Given the description of an element on the screen output the (x, y) to click on. 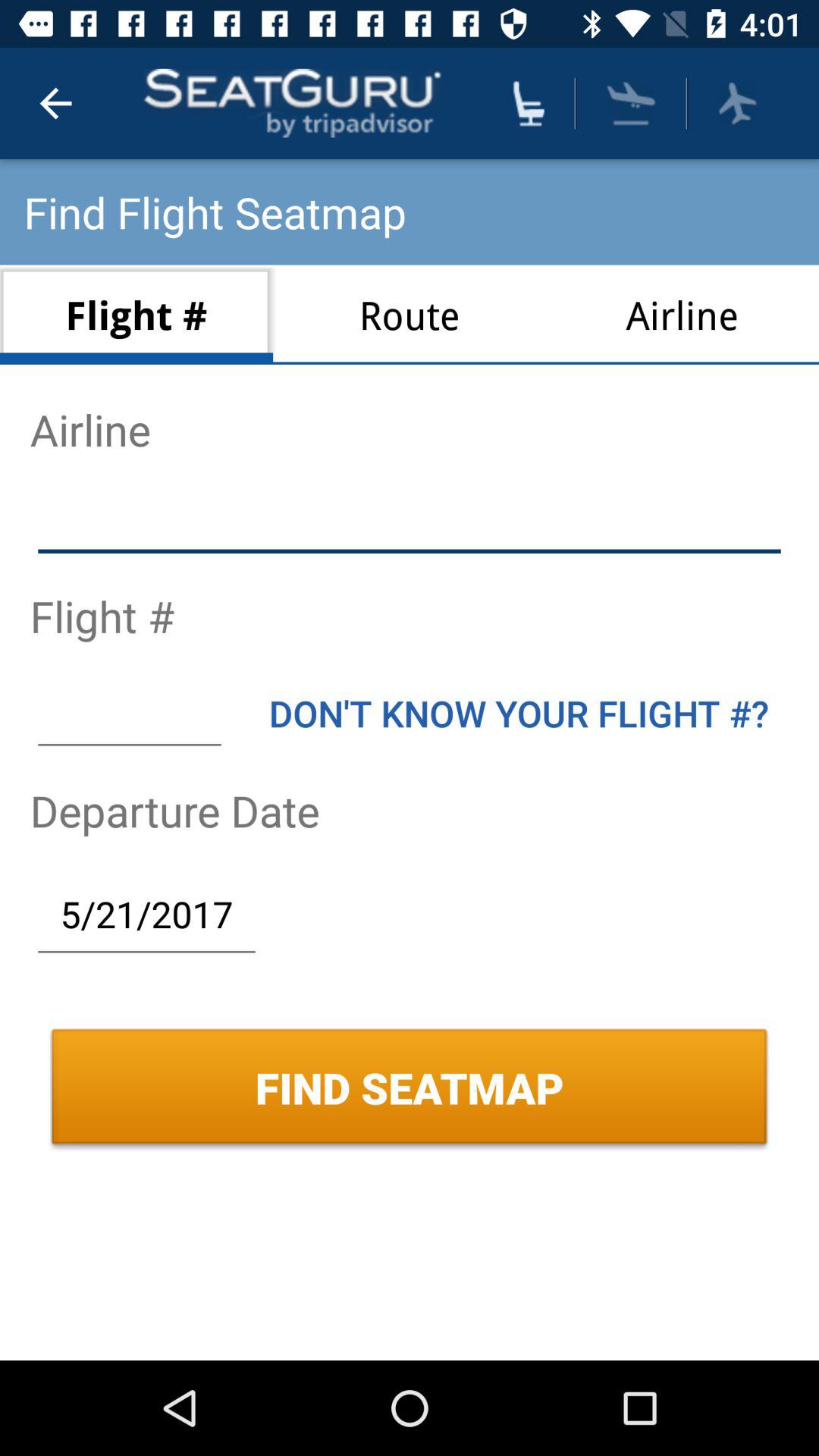
launch 5/21/2017 item (146, 913)
